Given the description of an element on the screen output the (x, y) to click on. 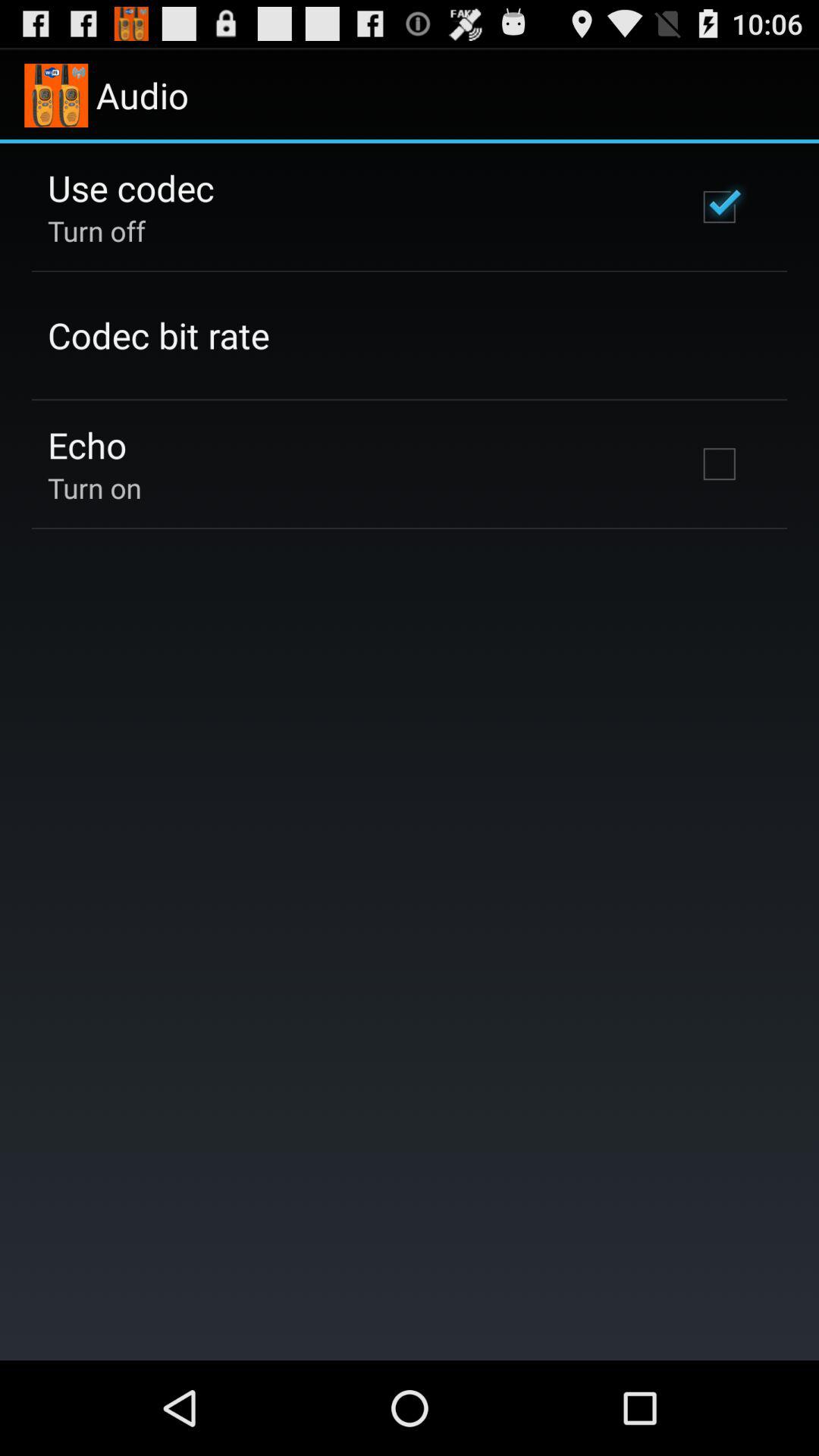
click app above the codec bit rate (96, 230)
